Given the description of an element on the screen output the (x, y) to click on. 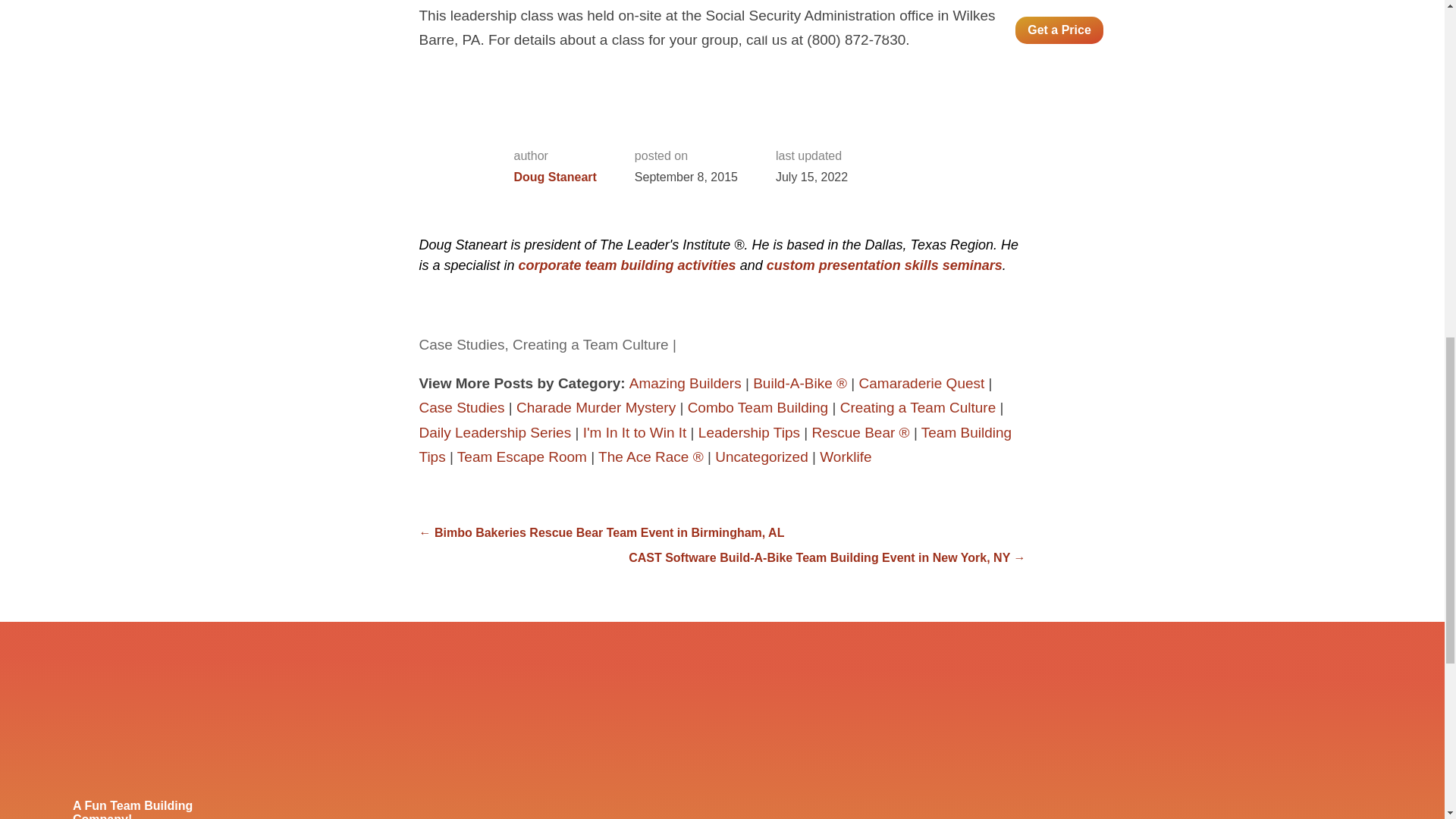
Charade Murder Mystery (595, 407)
Creating a Team Culture (590, 344)
custom presentation skills seminars (885, 264)
Doug Staneart (554, 177)
Case Studies (461, 407)
Camaraderie Quest (922, 383)
Amazing Builders (684, 383)
Case Studies (461, 344)
corporate team building activities (627, 264)
